Given the description of an element on the screen output the (x, y) to click on. 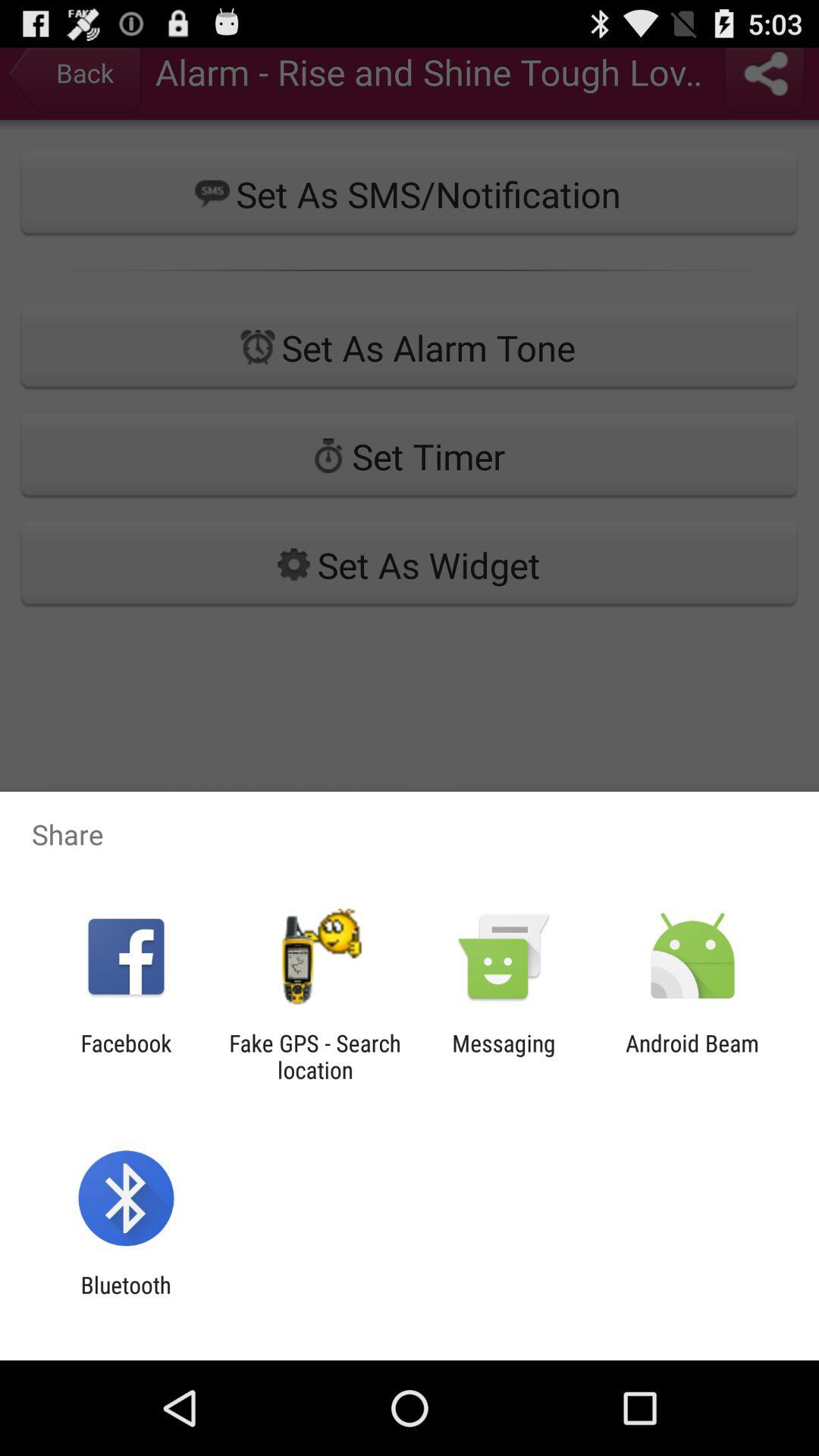
click the item next to messaging (692, 1056)
